Given the description of an element on the screen output the (x, y) to click on. 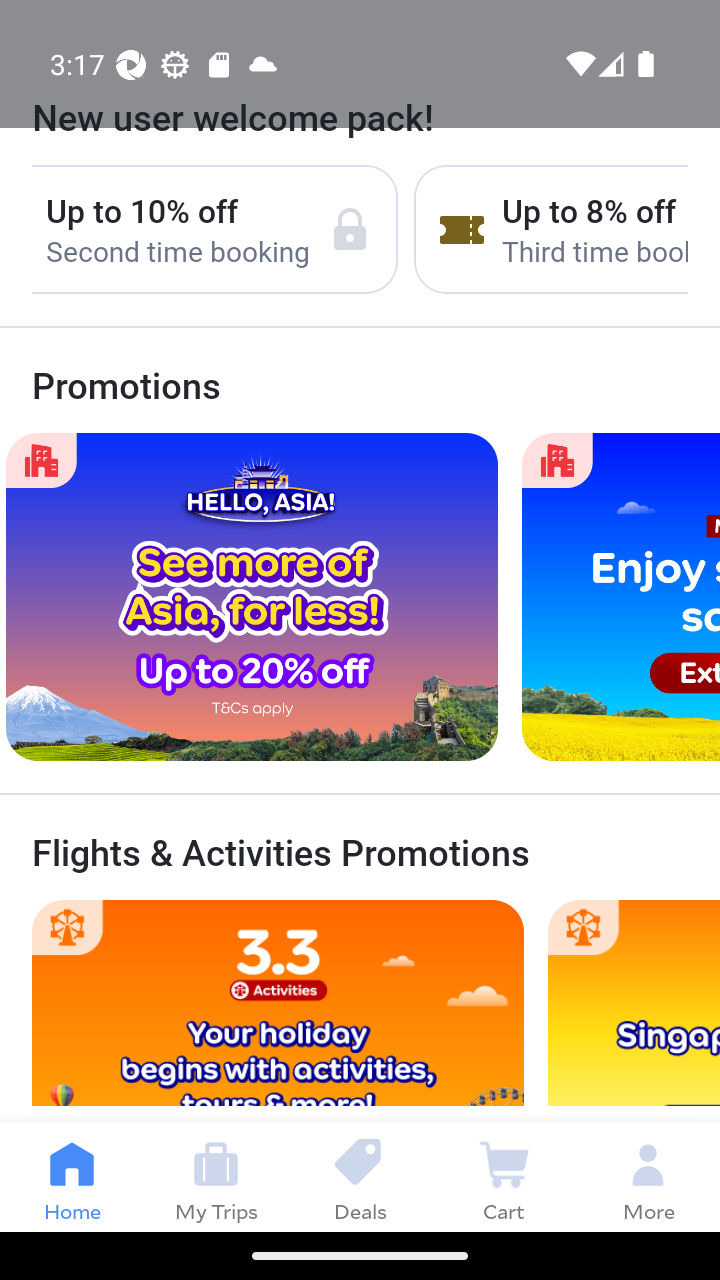
Home (72, 1176)
My Trips (216, 1176)
Deals (360, 1176)
Cart (504, 1176)
More (648, 1176)
